Given the description of an element on the screen output the (x, y) to click on. 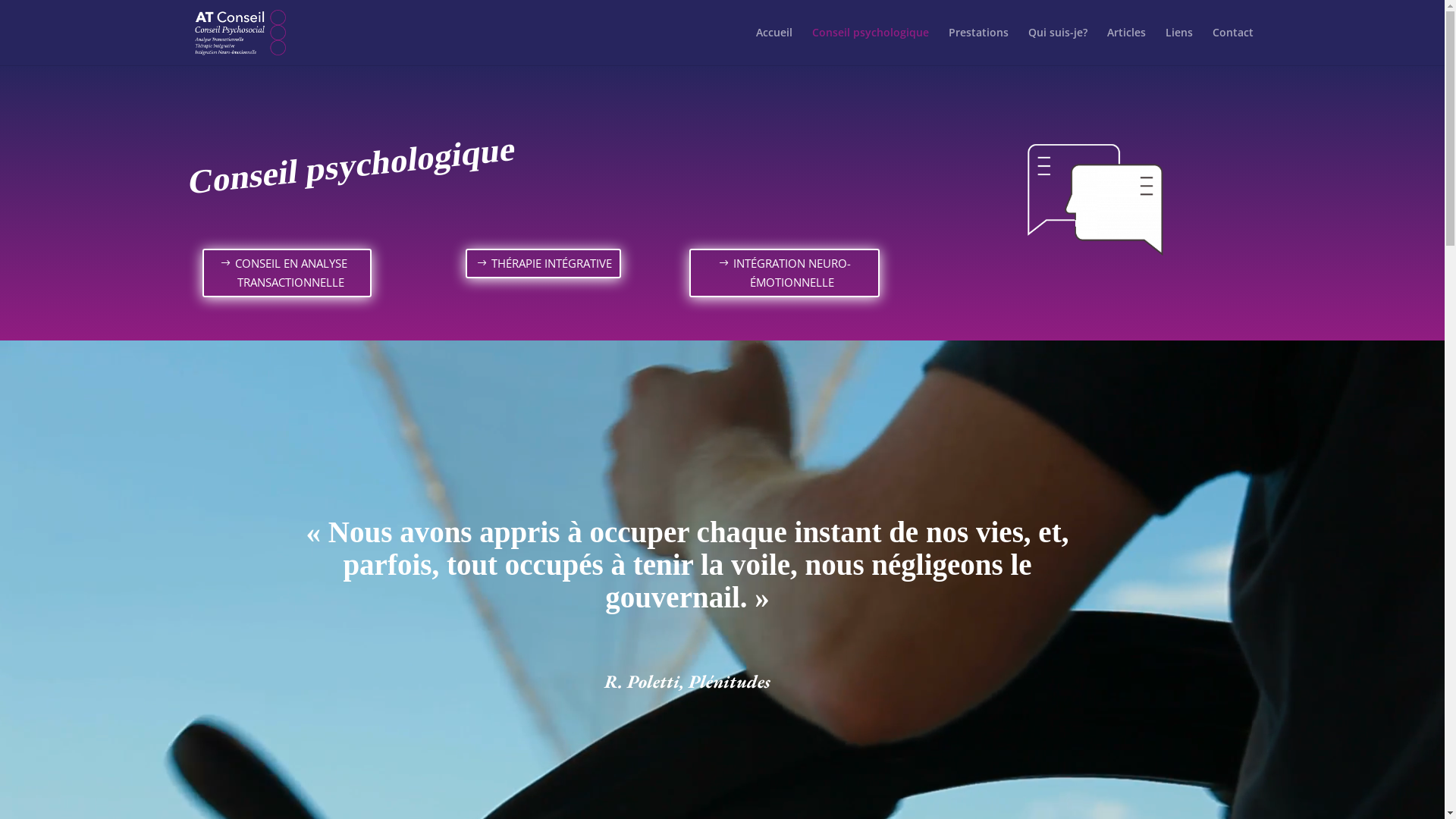
Prestations Element type: text (977, 46)
CONSEIL EN ANALYSE TRANSACTIONNELLE Element type: text (285, 272)
Contact Element type: text (1231, 46)
Accueil Element type: text (773, 46)
Conseil psychologique Element type: text (869, 46)
Liens Element type: text (1178, 46)
Articles Element type: text (1126, 46)
Qui suis-je? Element type: text (1057, 46)
